Given the description of an element on the screen output the (x, y) to click on. 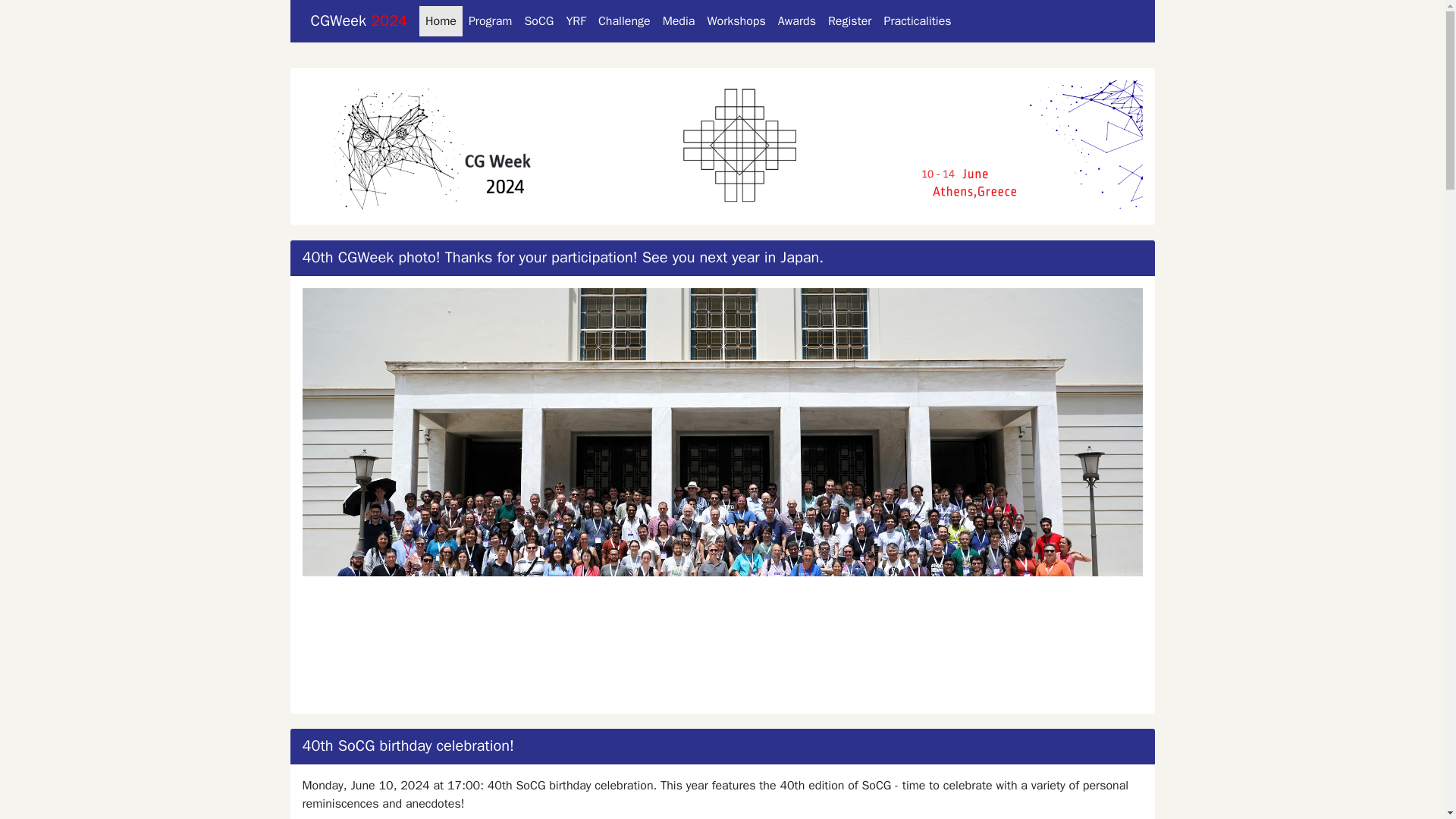
Program (490, 20)
Media (678, 20)
Practicalities (916, 20)
CGWeek 2024 (359, 20)
SoCG (538, 20)
Workshops (735, 20)
YRF (575, 20)
Register (849, 20)
Home (441, 20)
Challenge (624, 20)
Awards (796, 20)
